Given the description of an element on the screen output the (x, y) to click on. 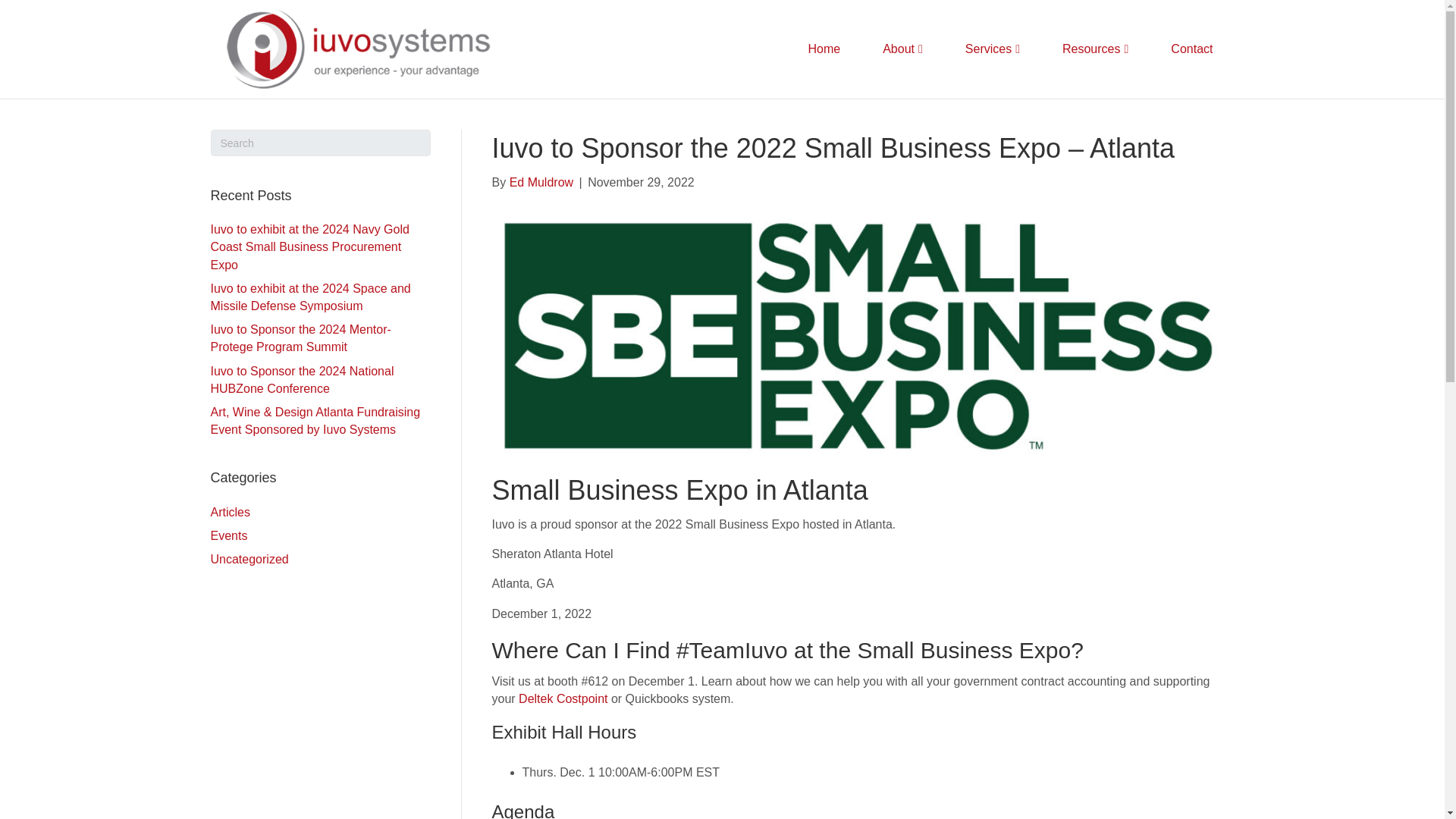
Iuvo to Sponsor the 2024 National HUBZone Conference (302, 379)
Home (823, 48)
Events (229, 535)
Uncategorized (249, 558)
Iuvo to Sponsor the 2024 Mentor-Protege Program Summit (301, 337)
Type and press Enter to search. (320, 142)
About (902, 49)
Articles (230, 512)
Ed Muldrow (541, 182)
